Given the description of an element on the screen output the (x, y) to click on. 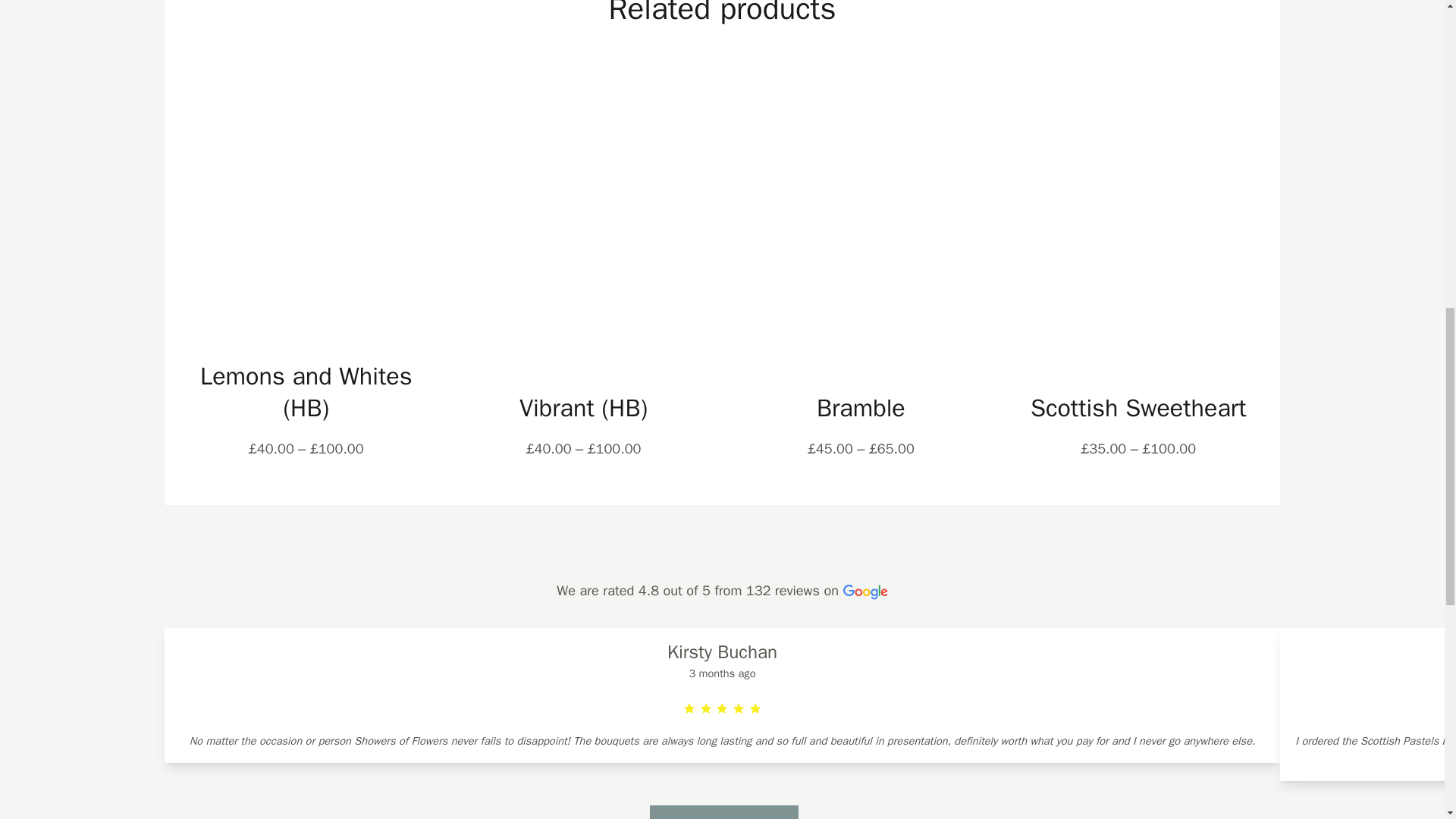
Google logo (865, 591)
Scottish Sweetheart (1138, 409)
Scottish Sweetheart (1138, 409)
Leave us a review (723, 812)
Bramble (860, 409)
Bramble (860, 409)
Leave us a review (723, 812)
